Given the description of an element on the screen output the (x, y) to click on. 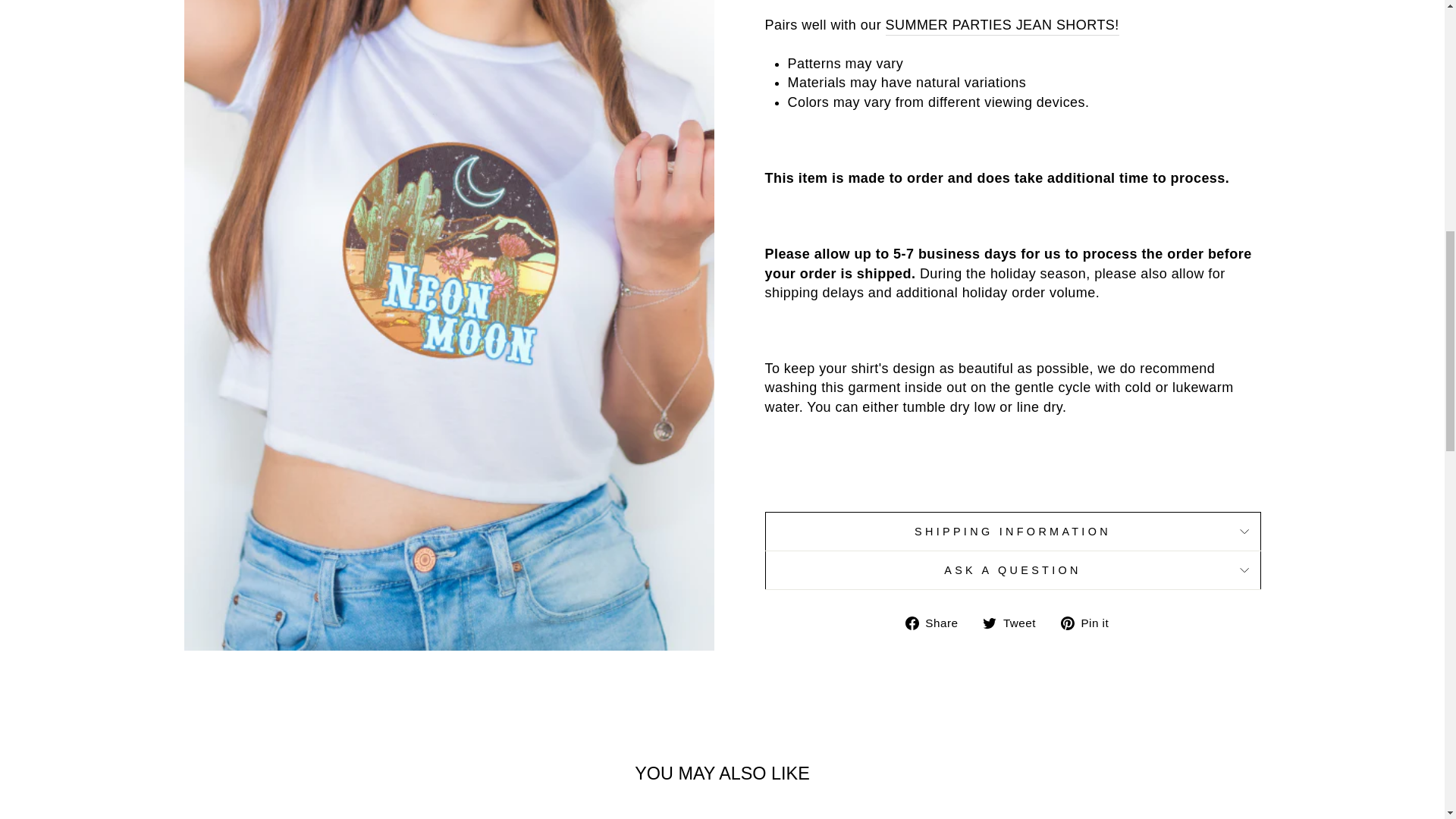
Share on Facebook (937, 621)
twitter (988, 622)
SUMMER PARTIES JEAN SHORT (1002, 25)
Pin on Pinterest (1090, 621)
Tweet on Twitter (1014, 621)
